Given the description of an element on the screen output the (x, y) to click on. 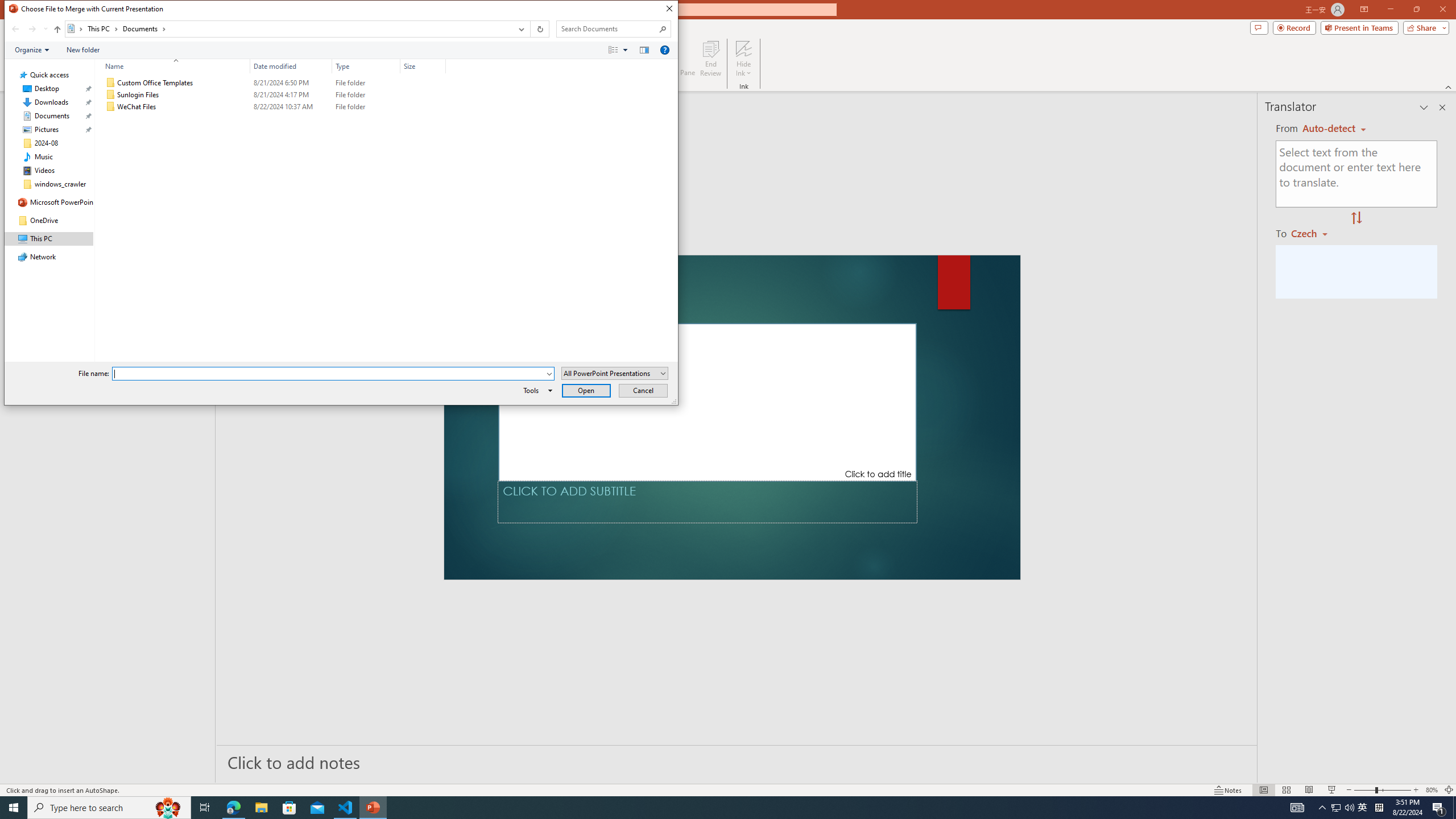
Tools (535, 390)
&Help (664, 49)
Search Box (607, 28)
Organize (31, 49)
Documents (144, 28)
Name (183, 106)
